Given the description of an element on the screen output the (x, y) to click on. 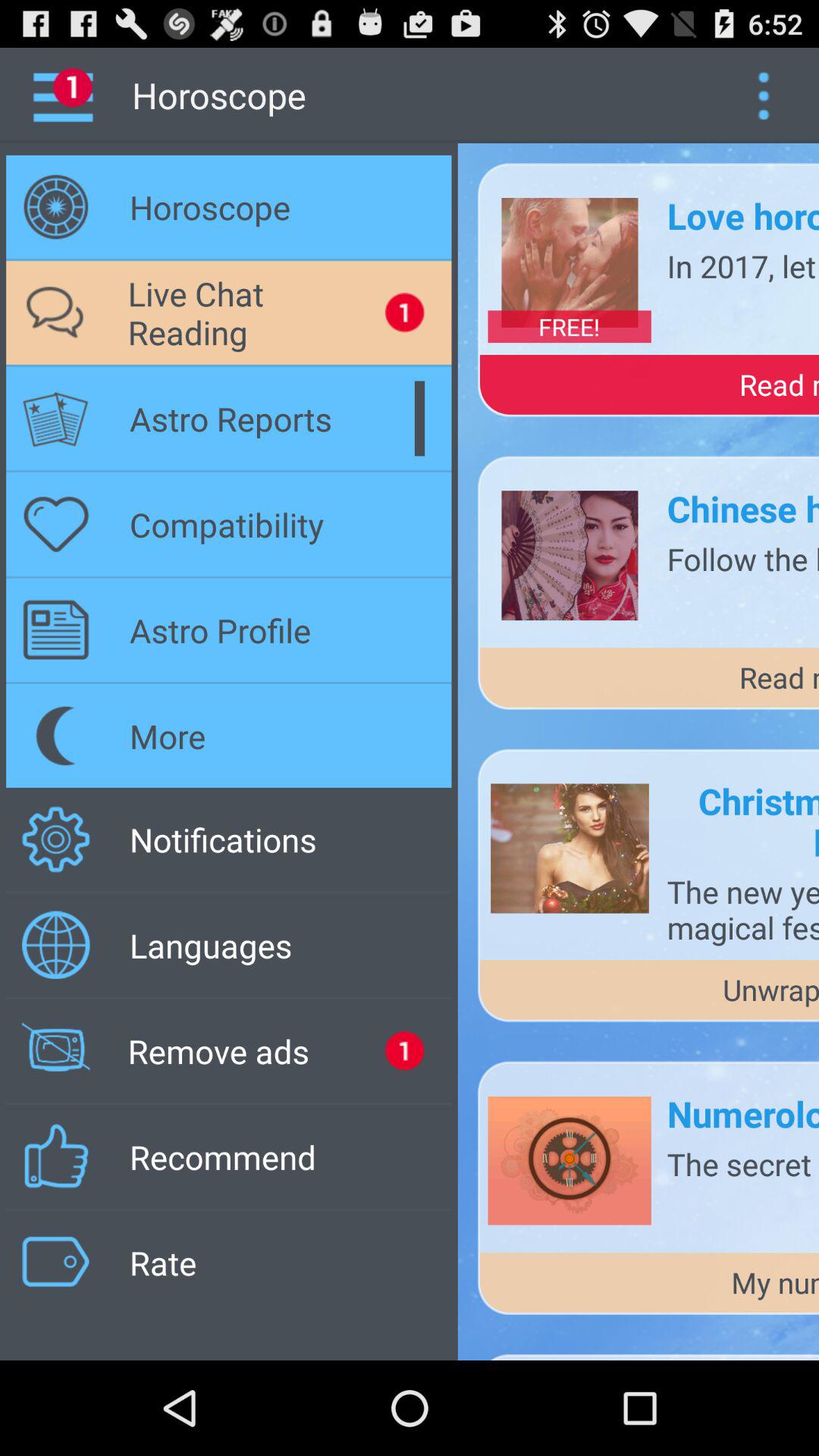
press the the secret code item (743, 1163)
